Given the description of an element on the screen output the (x, y) to click on. 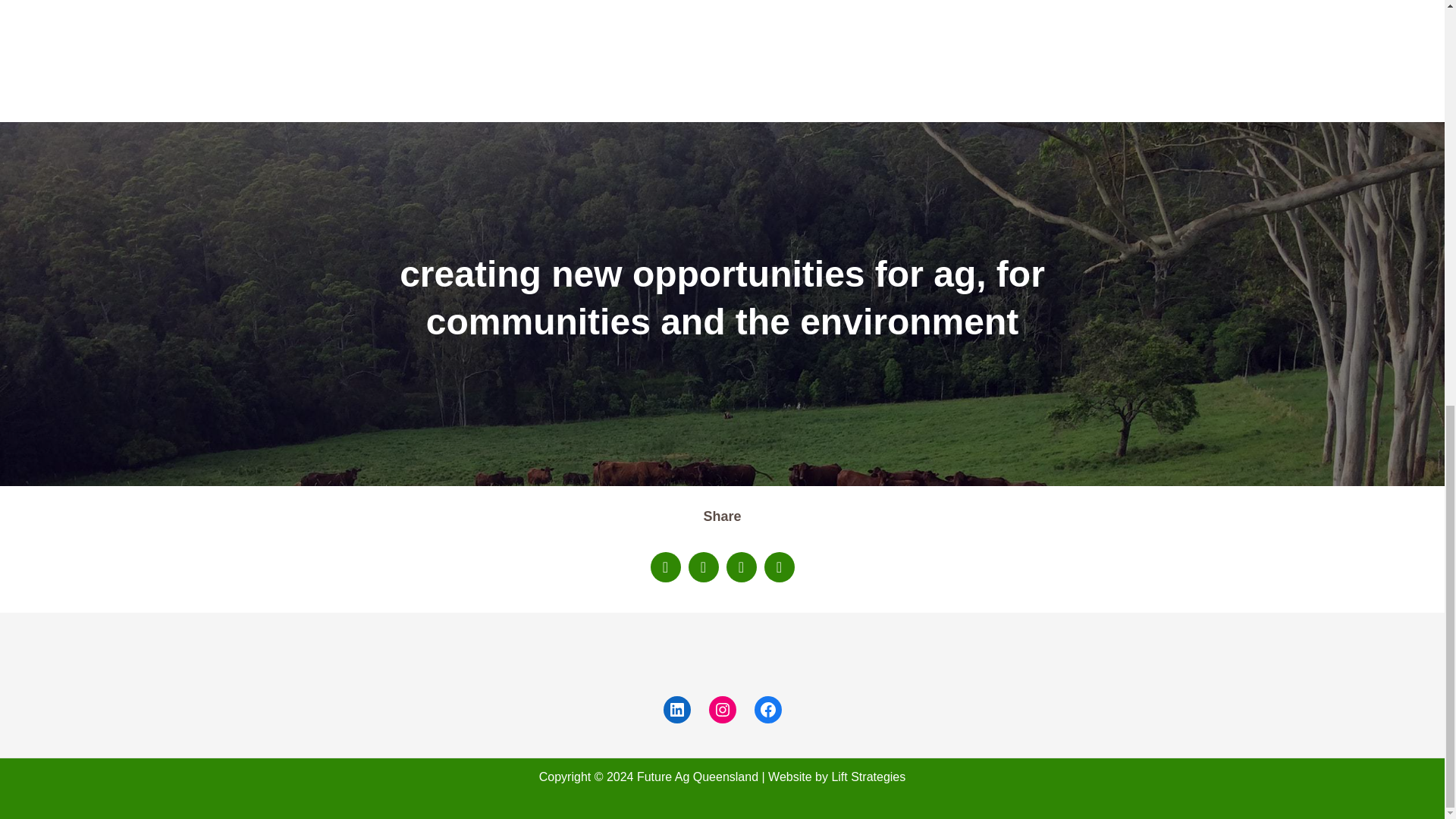
Facebook (767, 709)
LinkedIn (676, 709)
Instagram (721, 709)
Lift Strategies (868, 776)
